Given the description of an element on the screen output the (x, y) to click on. 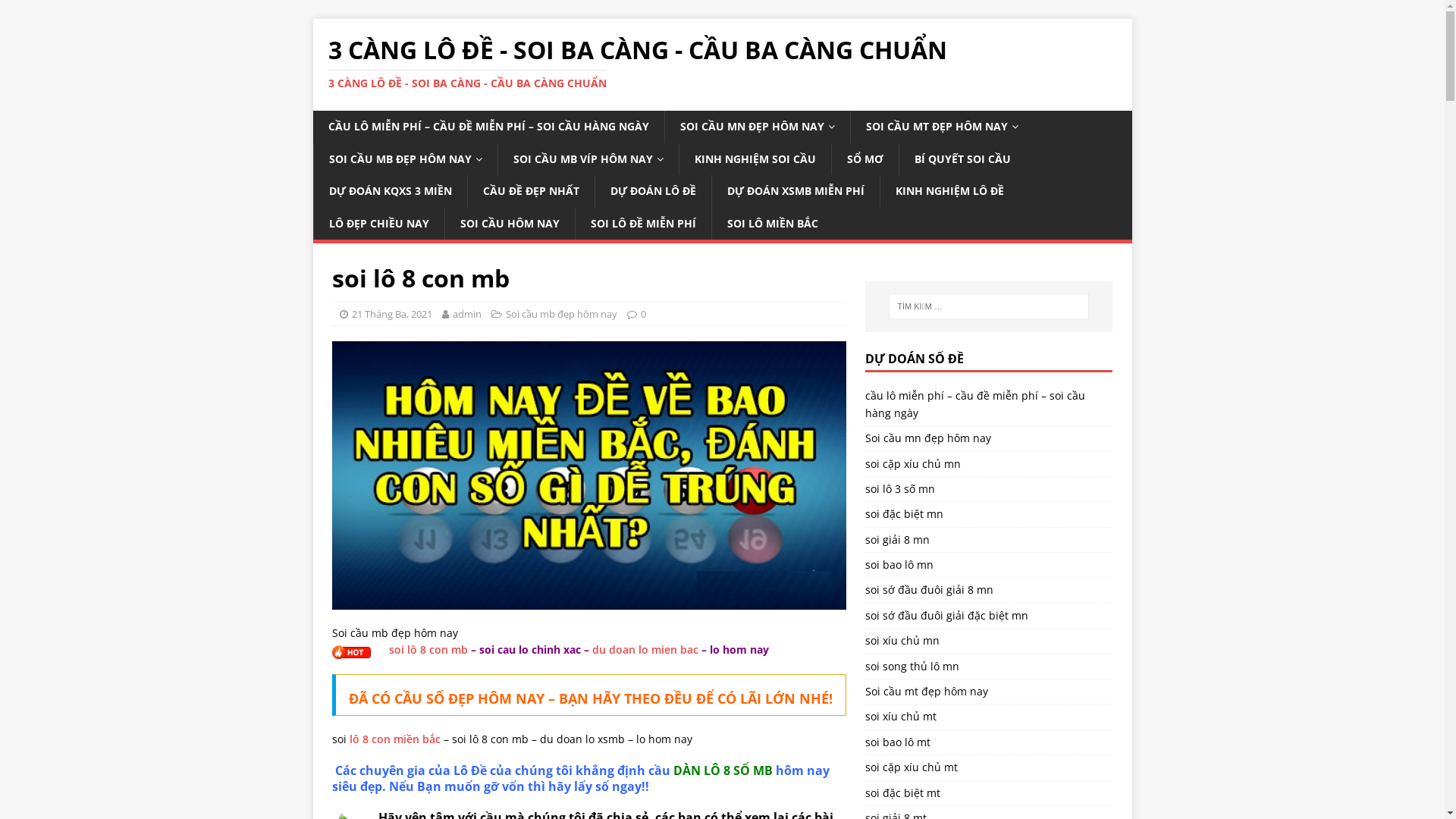
0 Element type: text (642, 313)
cau-de-chuan-xac Element type: hover (589, 475)
du doan lo mien bac Element type: text (644, 649)
admin Element type: text (465, 313)
